Given the description of an element on the screen output the (x, y) to click on. 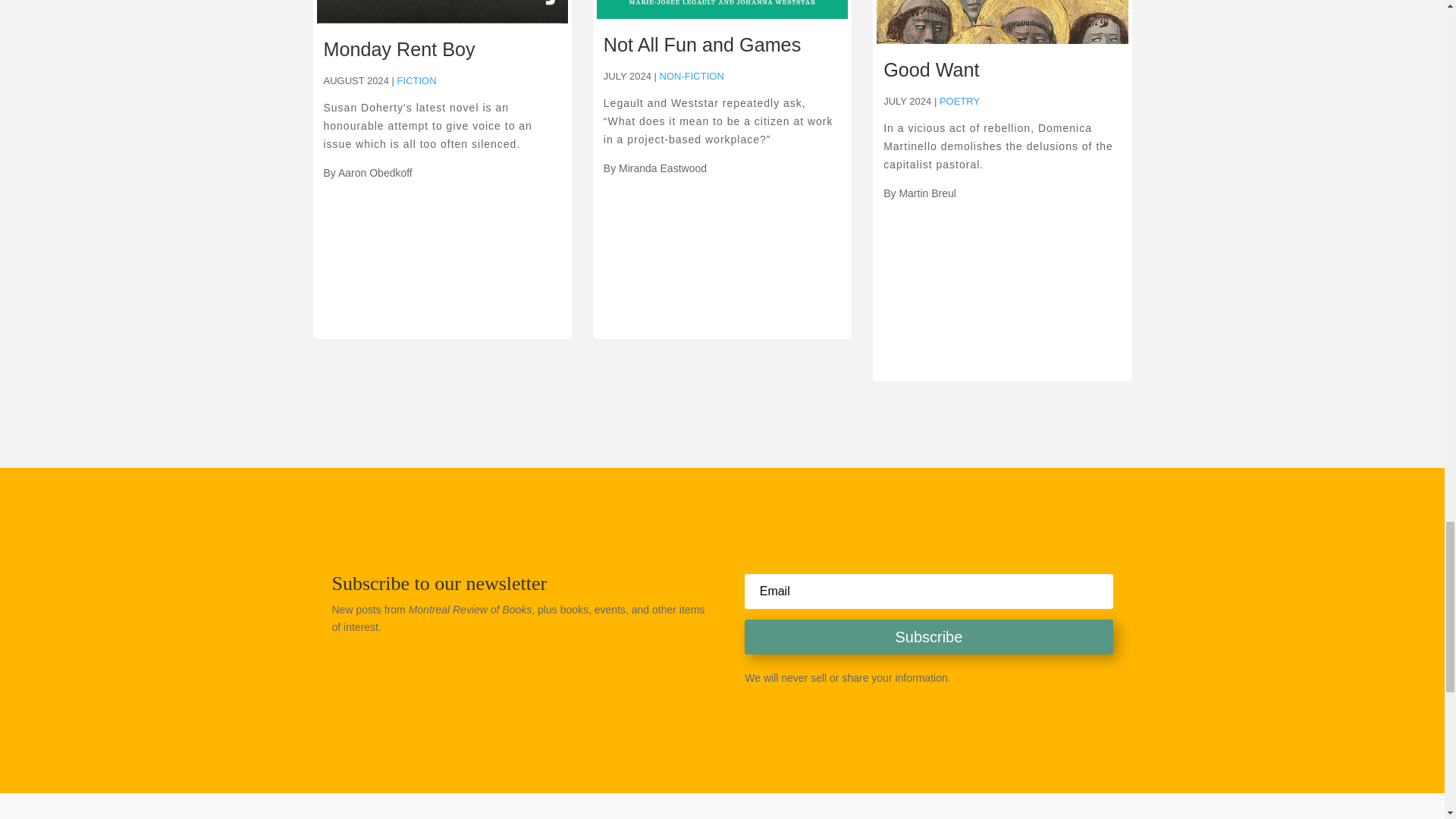
Not All Fun and Games (702, 44)
Subscribe (928, 636)
POETRY (959, 101)
Good Want (930, 69)
NON-FICTION (691, 75)
FICTION (416, 80)
Monday Rent Boy (398, 48)
